Given the description of an element on the screen output the (x, y) to click on. 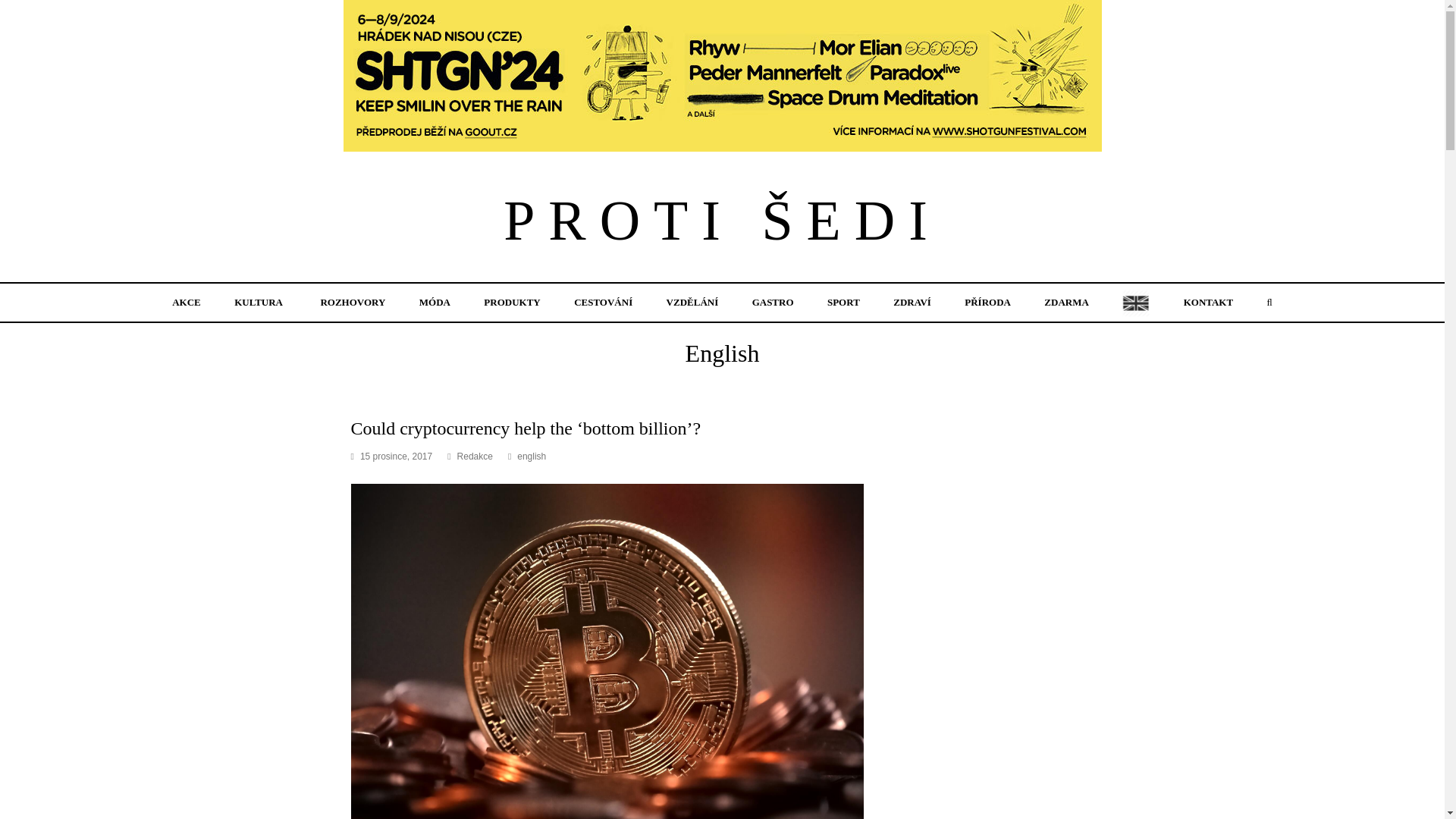
english (531, 456)
KULTURA (258, 302)
GASTRO (772, 302)
ROZHOVORY (352, 302)
PRODUKTY (512, 302)
Redakce (475, 456)
KONTAKT (1207, 302)
SPORT (844, 302)
AKCE (186, 302)
ZDARMA (1066, 302)
